Given the description of an element on the screen output the (x, y) to click on. 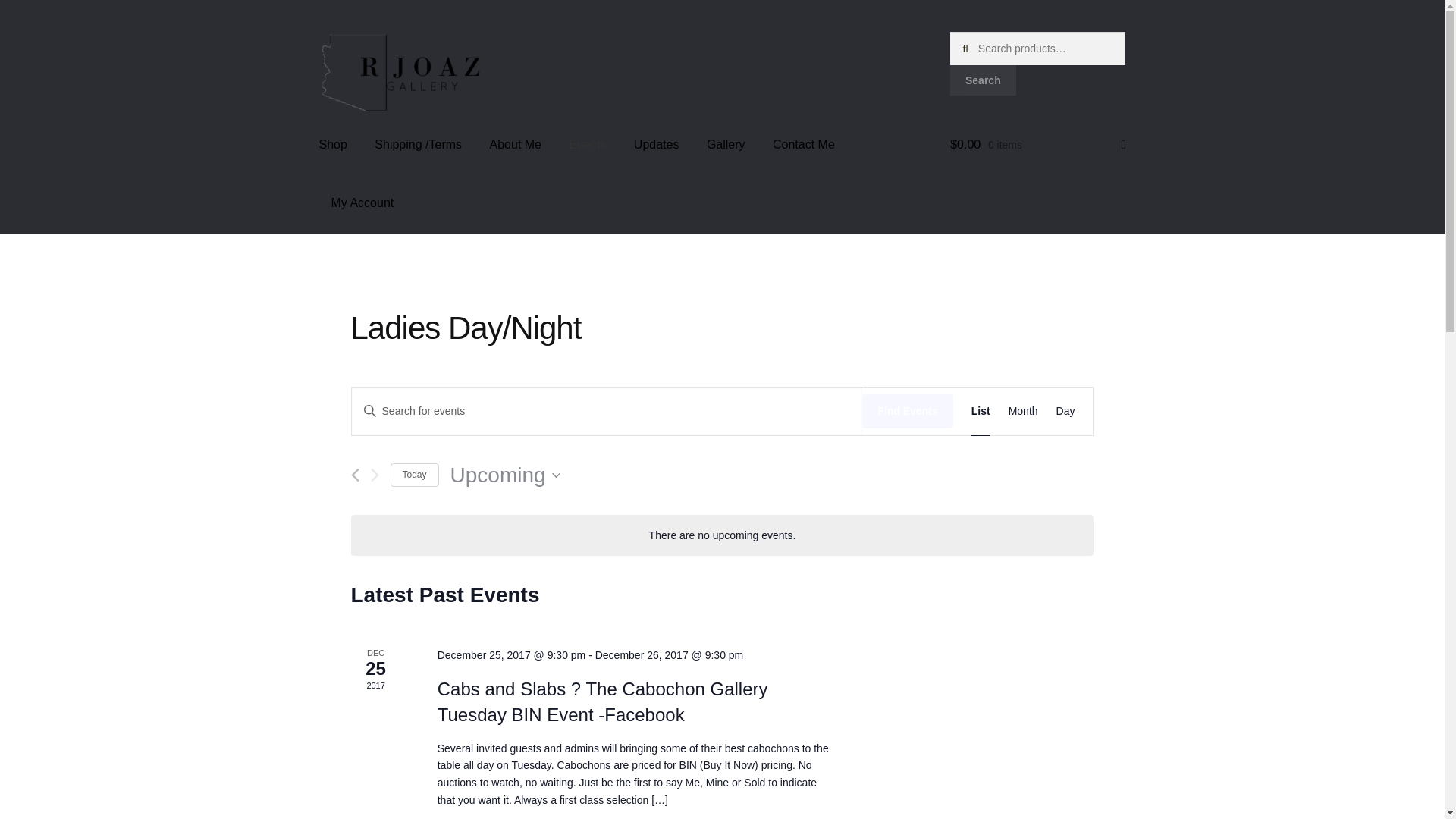
Updates (656, 144)
Upcoming (504, 475)
Gallery (725, 144)
View your shopping cart (1037, 144)
Click to select today's date (414, 474)
Search (982, 80)
Today (414, 474)
Click to toggle datepicker (504, 475)
Contact Me (803, 144)
My Account (362, 203)
Events (586, 144)
About Me (515, 144)
